Given the description of an element on the screen output the (x, y) to click on. 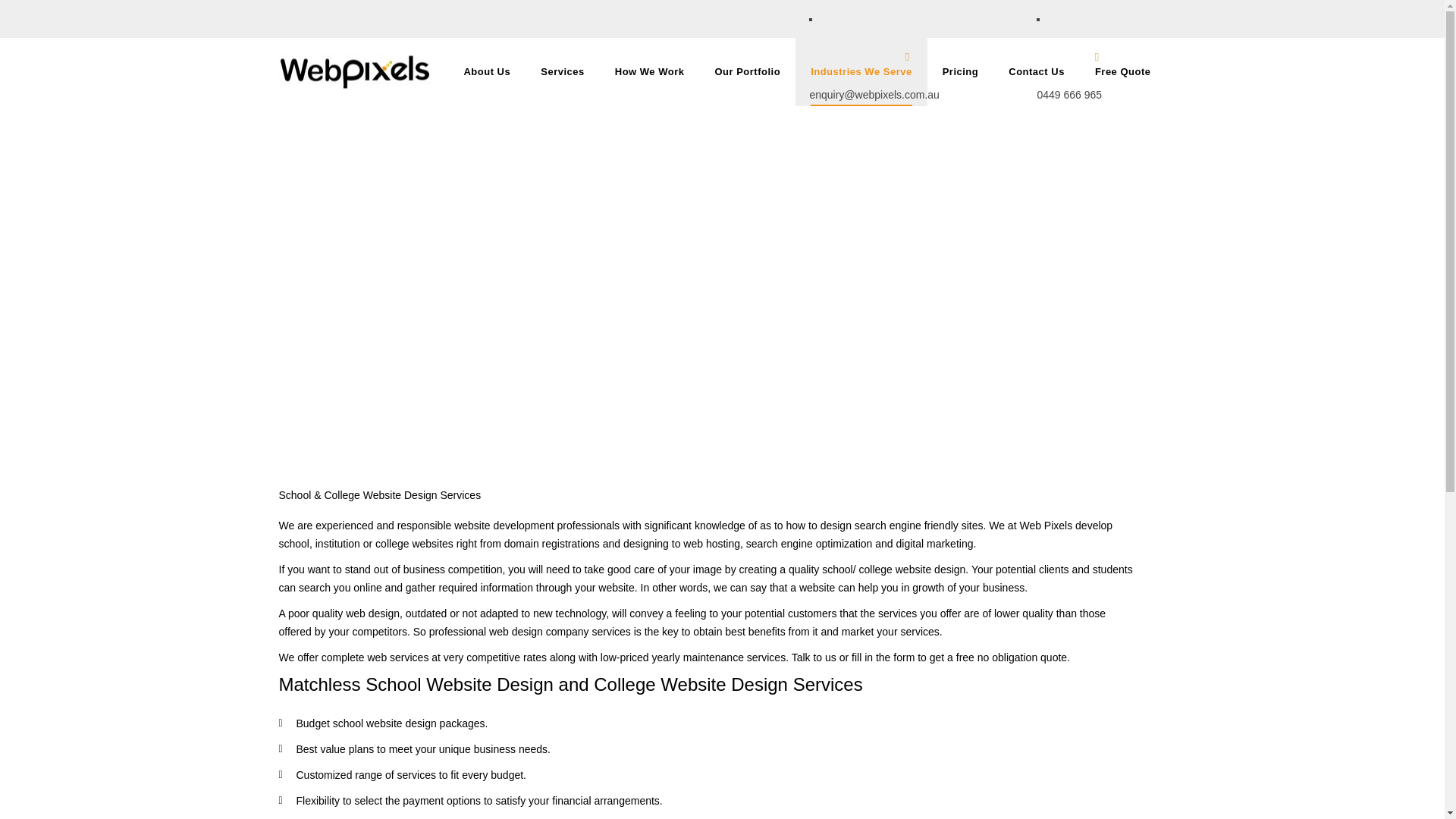
Our Portfolio (747, 71)
Industries We Serve (861, 71)
How We Work (649, 71)
0449 666 965 (1069, 94)
